Given the description of an element on the screen output the (x, y) to click on. 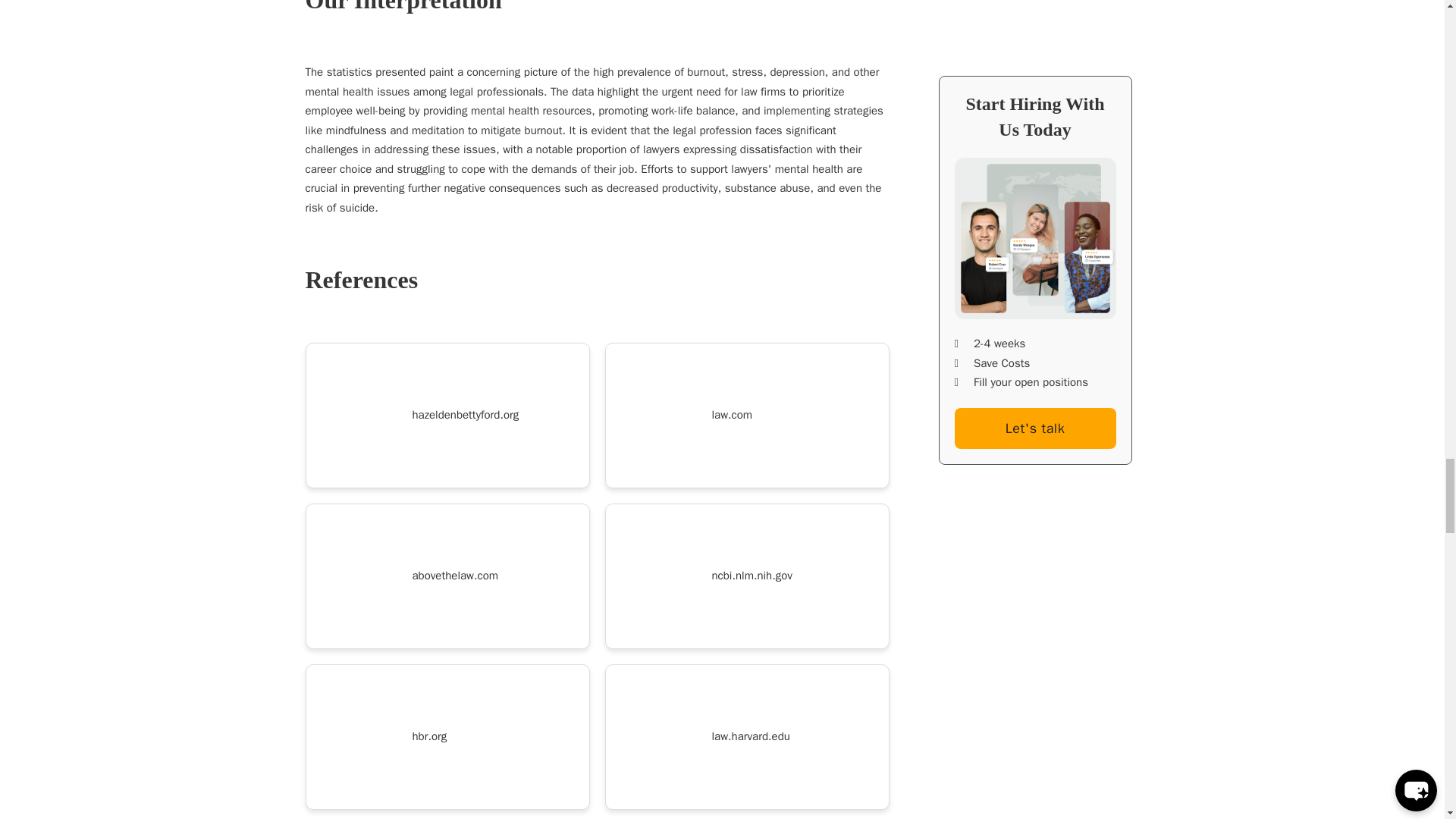
Logo von hazeldenbettyford.org (359, 415)
